Given the description of an element on the screen output the (x, y) to click on. 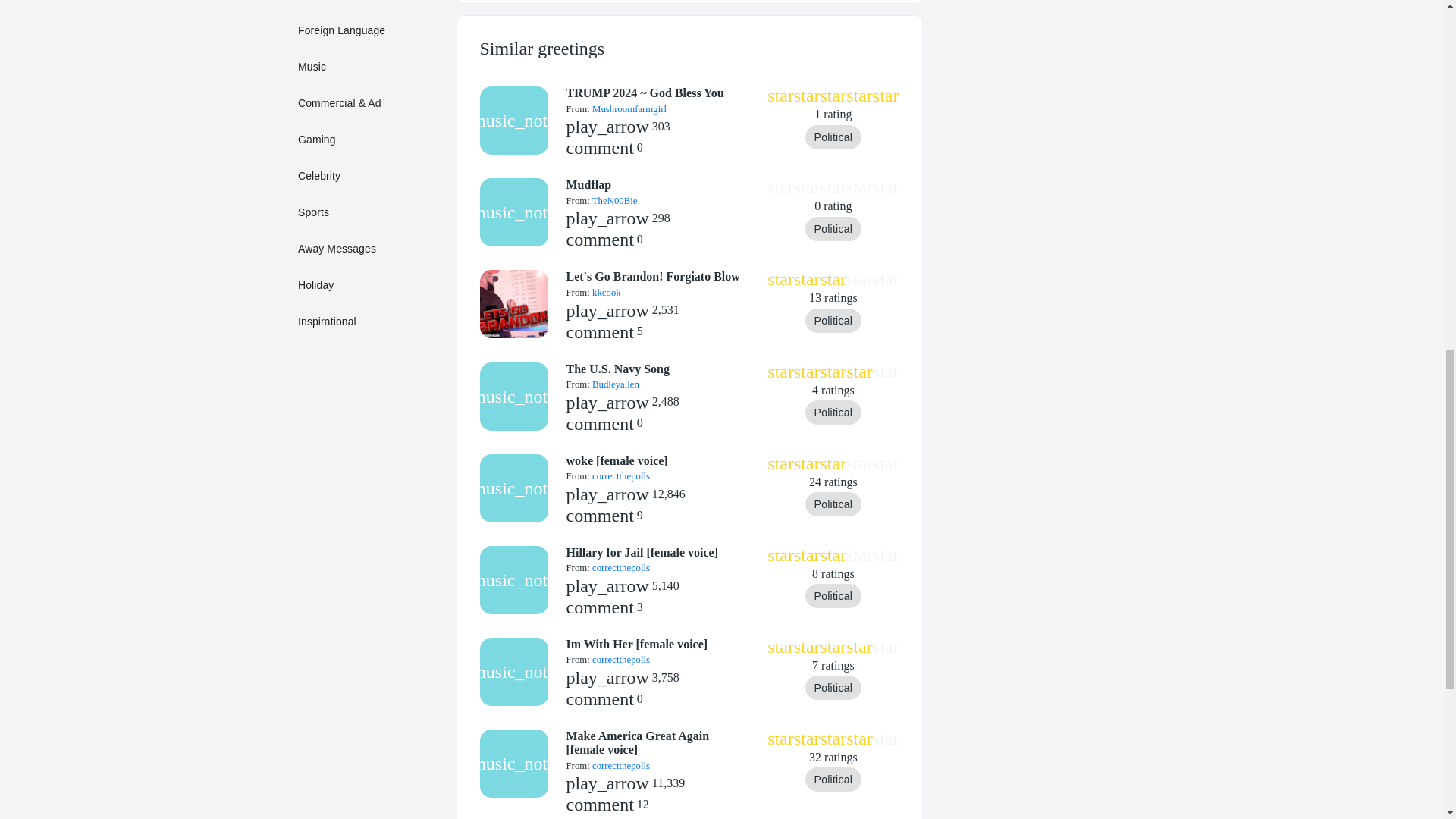
Holiday (370, 285)
Celebrity (370, 175)
Music (370, 66)
Inspirational (370, 321)
Away Messages (370, 248)
Sports (370, 212)
Foreign Language (370, 30)
Gaming (370, 139)
Miscellaneous (370, 4)
